Given the description of an element on the screen output the (x, y) to click on. 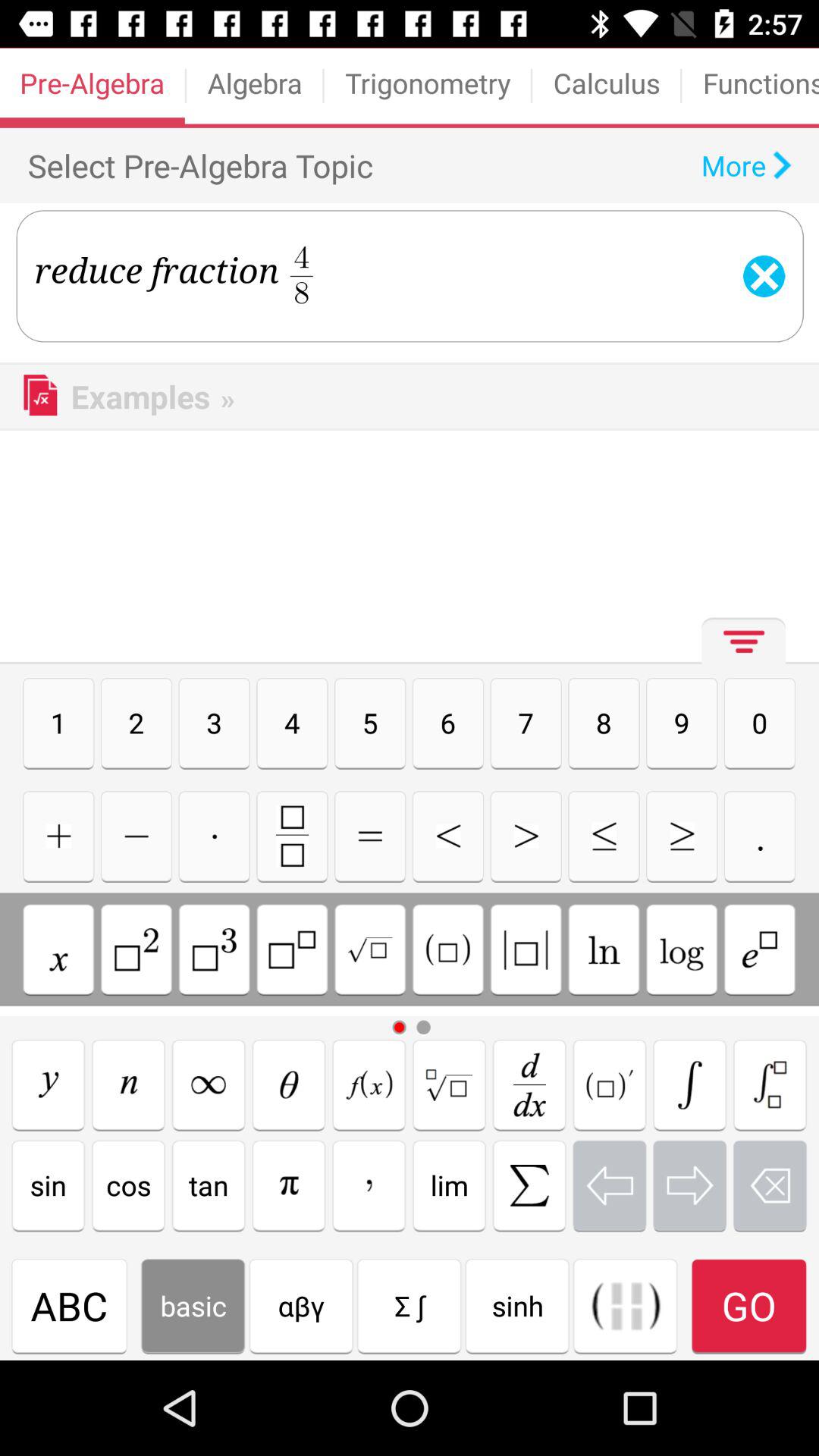
less then sign (448, 835)
